Given the description of an element on the screen output the (x, y) to click on. 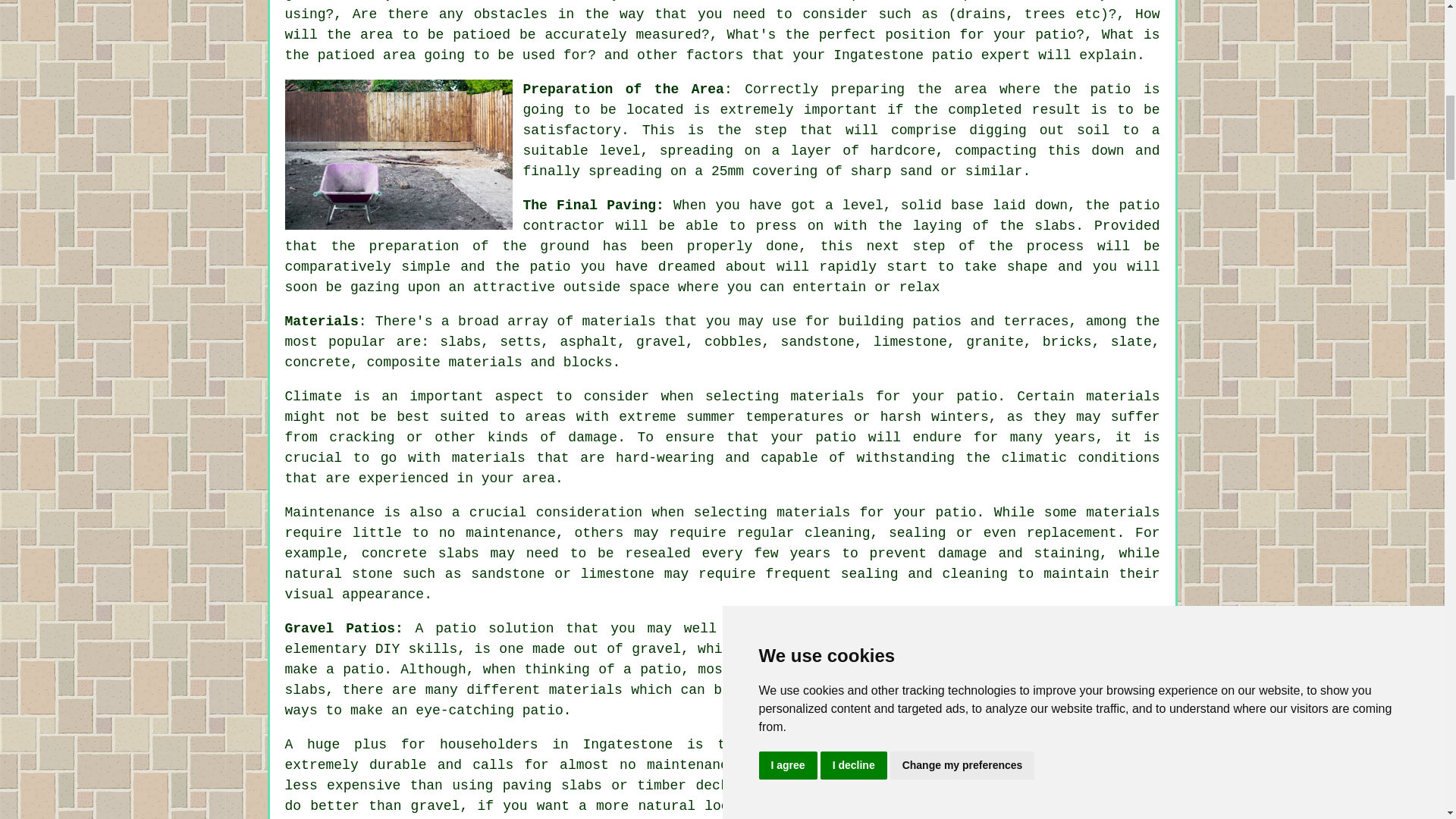
bricks (1067, 341)
blocks (587, 362)
slabs (459, 341)
gravel (660, 341)
patio (1138, 205)
hardcore (901, 150)
patioed (481, 34)
obstacles (510, 14)
patio (455, 628)
patio (951, 55)
